Given the description of an element on the screen output the (x, y) to click on. 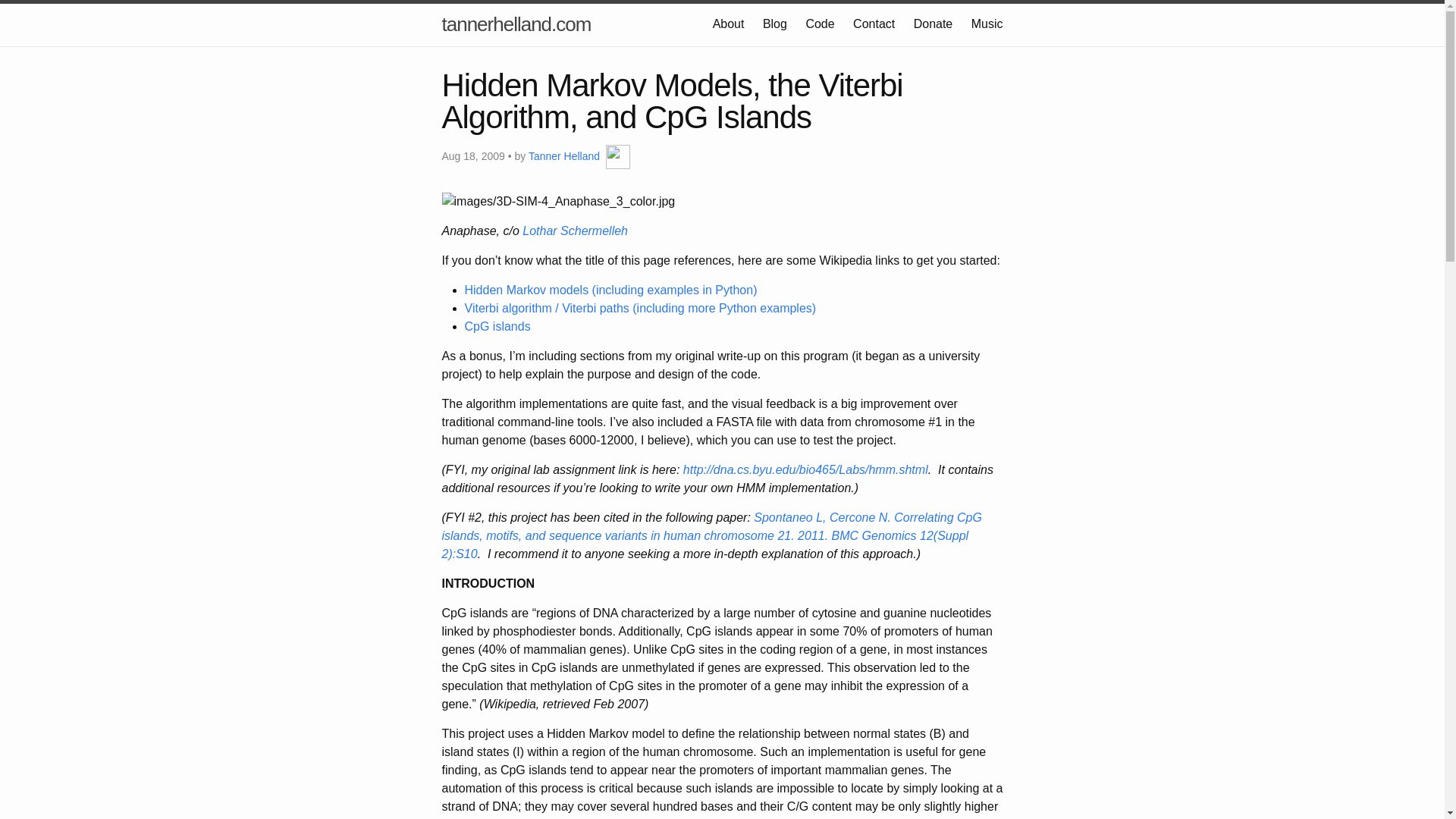
CpG islands (496, 326)
Lothar Schermelleh (574, 230)
Contact (874, 23)
Music (987, 23)
tannerhelland.com (516, 24)
Donate (933, 23)
About (728, 23)
Blog (774, 23)
Tanner Helland (563, 155)
Code (819, 23)
